Given the description of an element on the screen output the (x, y) to click on. 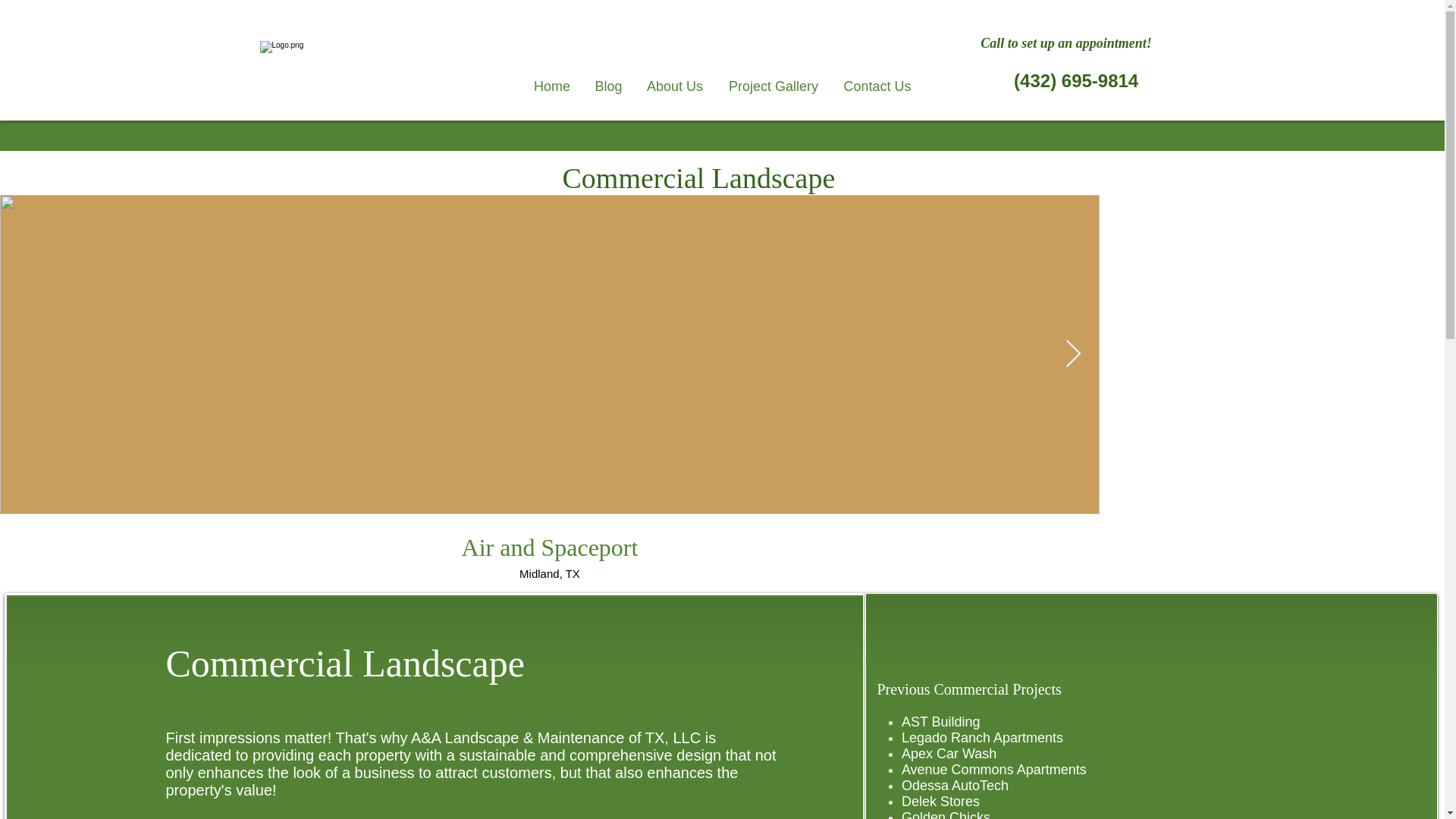
Contact Us (877, 85)
Project Gallery (773, 85)
About Us (673, 85)
Home (552, 85)
Blog (607, 85)
